Given the description of an element on the screen output the (x, y) to click on. 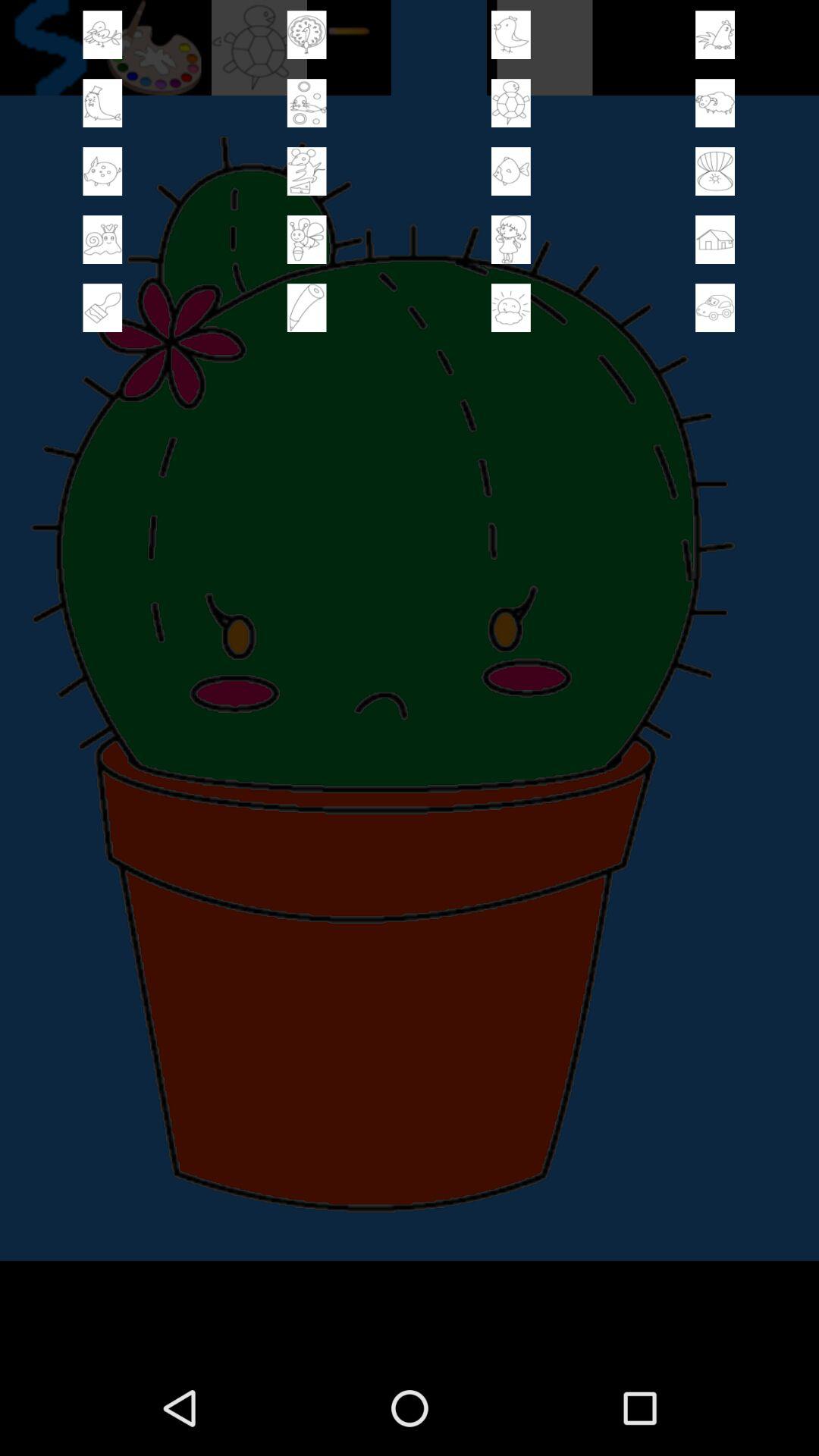
choose the car (715, 307)
